Given the description of an element on the screen output the (x, y) to click on. 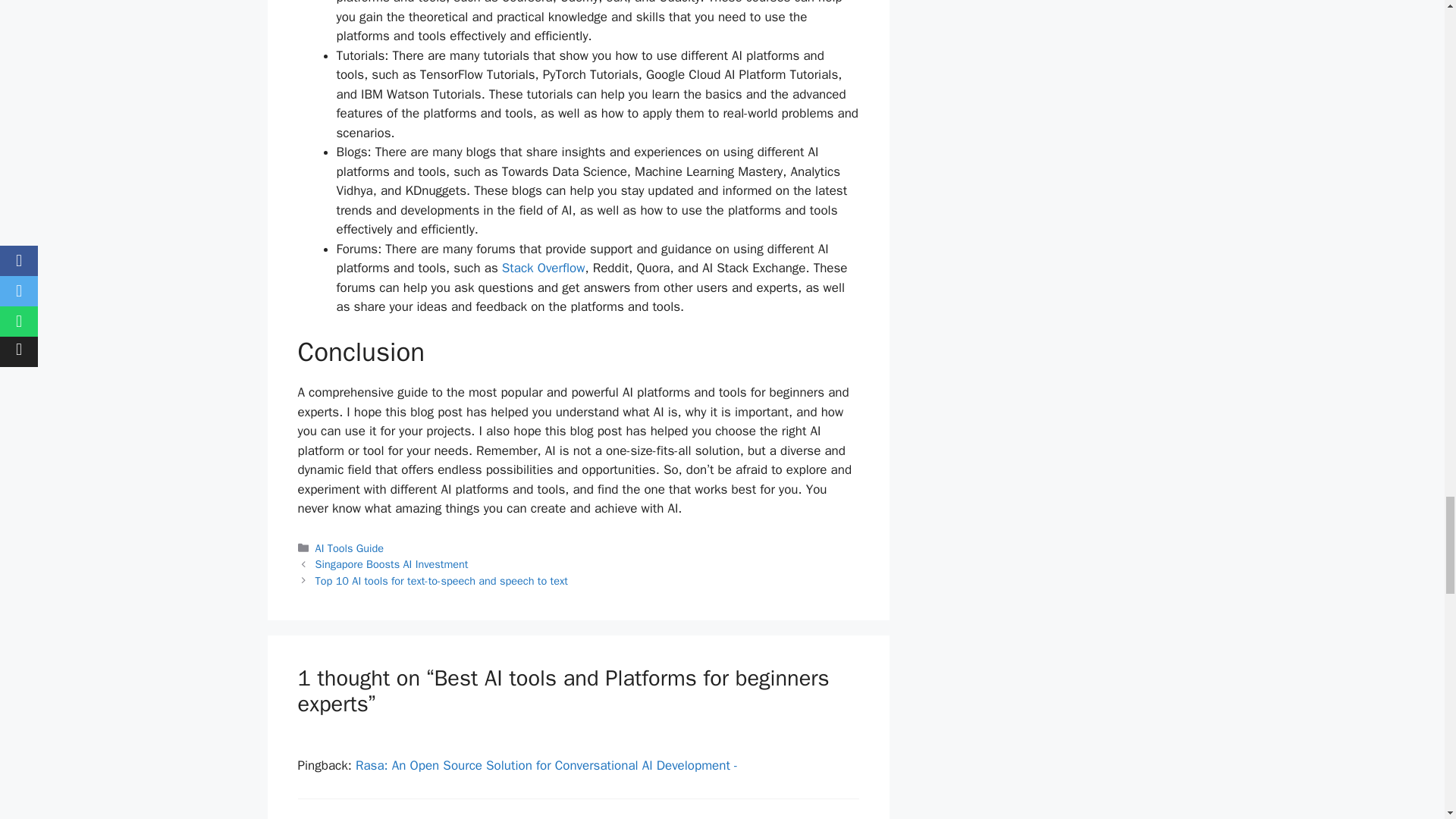
Stack Overflow (543, 268)
Singapore Boosts AI Investment (391, 563)
Top 10 AI tools for text-to-speech and speech to text (441, 581)
AI Tools Guide (349, 548)
